Given the description of an element on the screen output the (x, y) to click on. 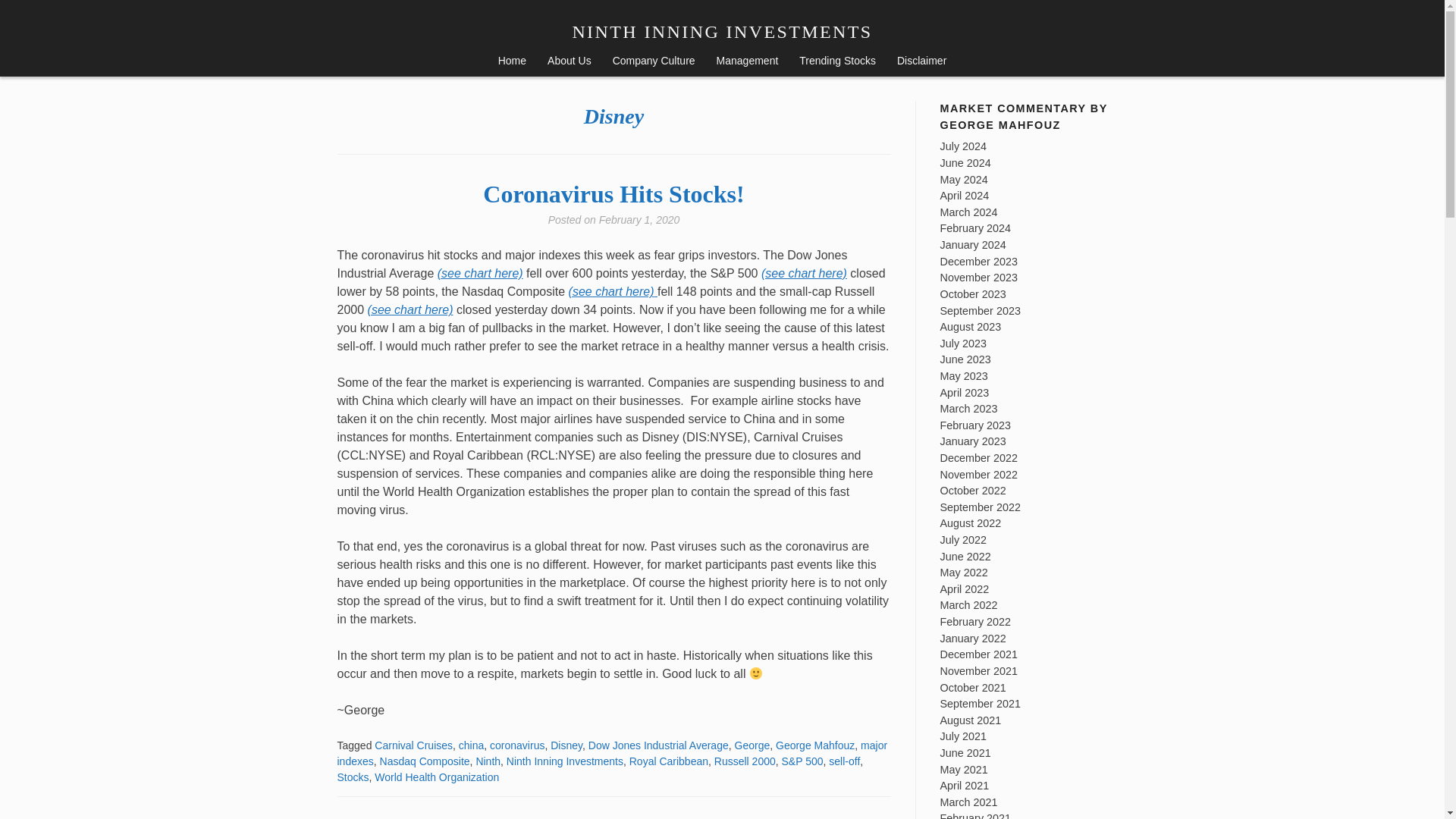
sell-off (844, 761)
January 2024 (973, 244)
Management (747, 61)
February 1, 2020 (638, 219)
April 2024 (965, 195)
Coronavirus Hits Stocks! (613, 194)
Carnival Cruises (413, 745)
NINTH INNING INVESTMENTS (722, 31)
Disney (566, 745)
Stocks (352, 776)
February 2024 (975, 227)
Ninth (488, 761)
Russell 2000 (745, 761)
Trending Stocks (837, 61)
June 2024 (965, 162)
